Given the description of an element on the screen output the (x, y) to click on. 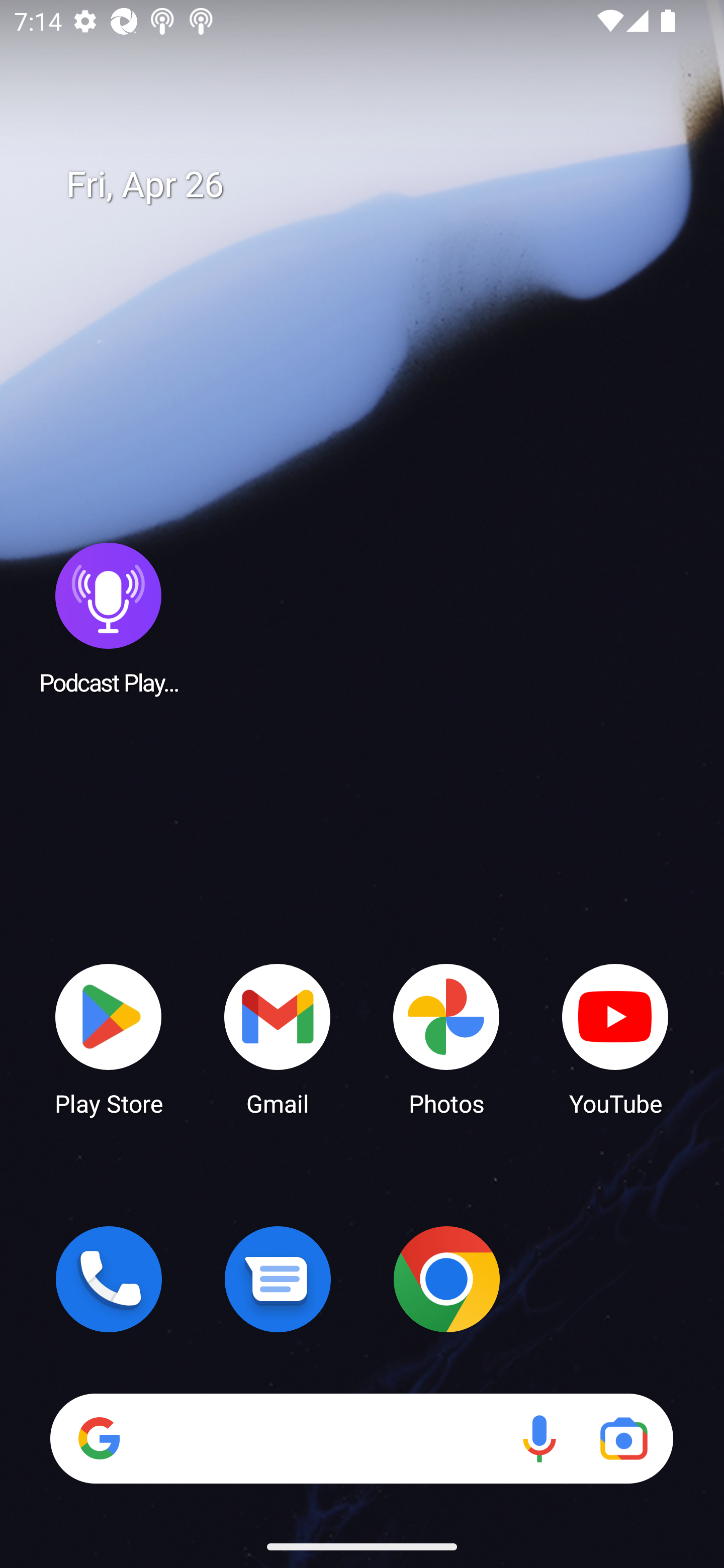
Fri, Apr 26 (375, 184)
Podcast Player (108, 617)
Play Store (108, 1038)
Gmail (277, 1038)
Photos (445, 1038)
YouTube (615, 1038)
Phone (108, 1279)
Messages (277, 1279)
Chrome (446, 1279)
Search Voice search Google Lens (361, 1438)
Voice search (539, 1438)
Google Lens (623, 1438)
